Given the description of an element on the screen output the (x, y) to click on. 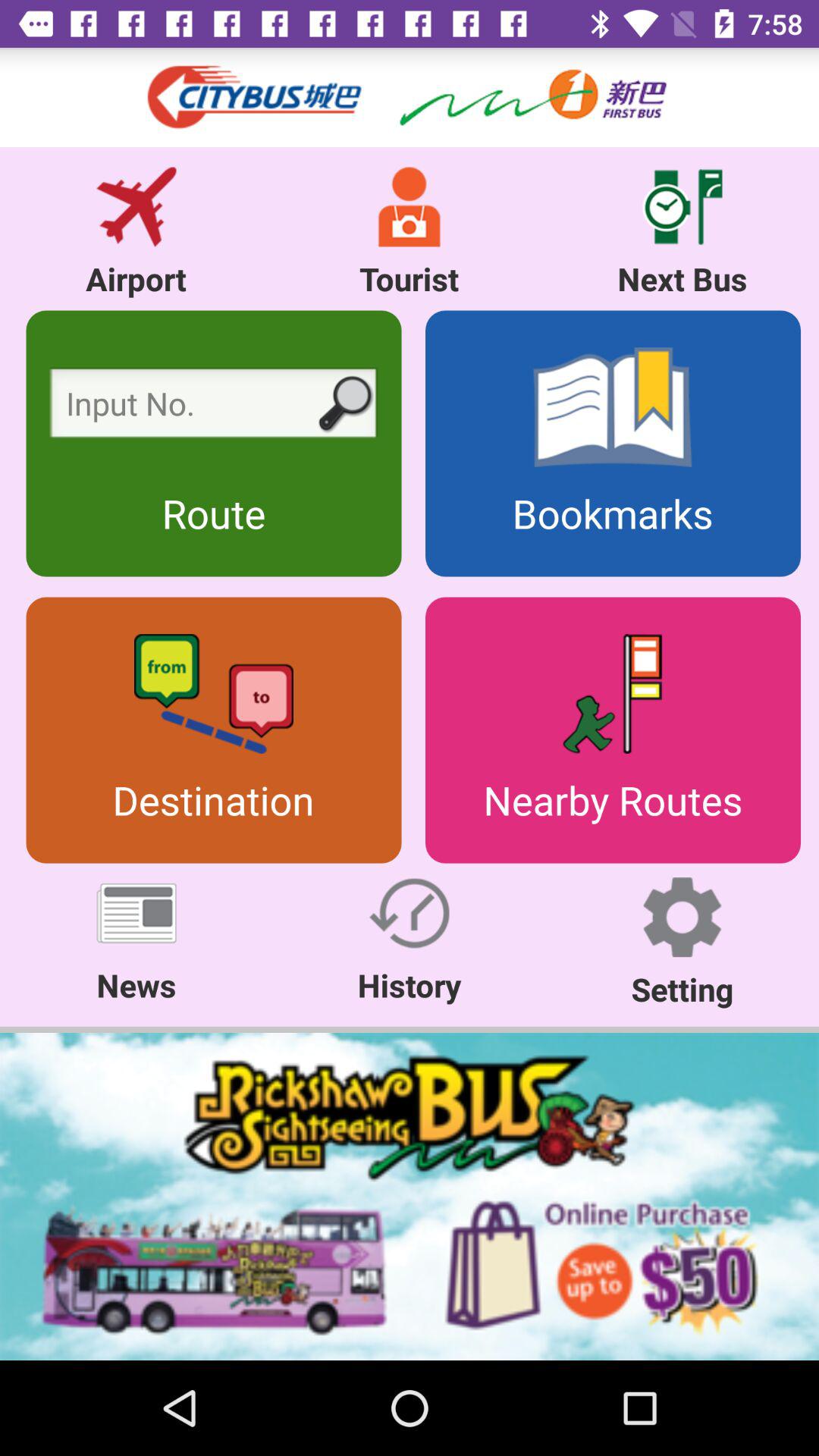
write no (213, 407)
